Given the description of an element on the screen output the (x, y) to click on. 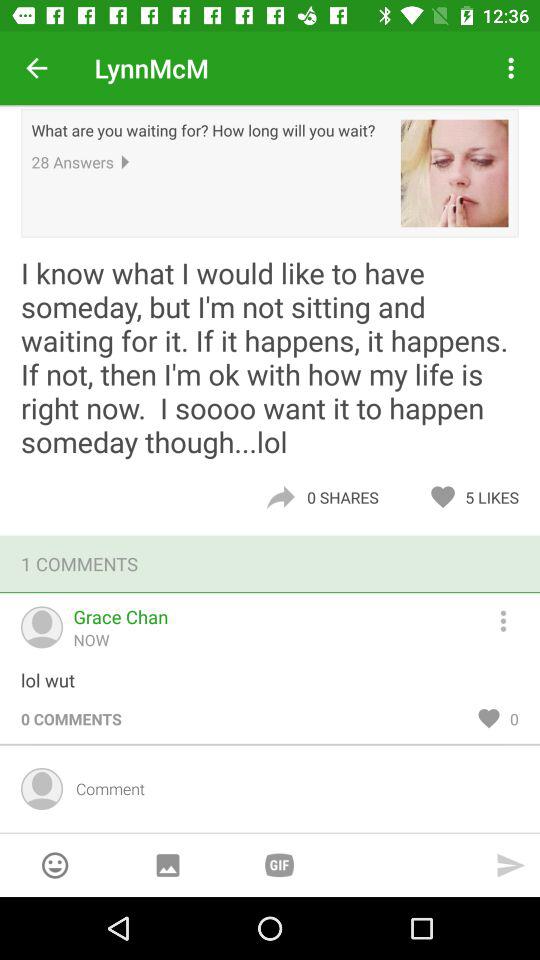
jump until the grace chan (120, 616)
